Given the description of an element on the screen output the (x, y) to click on. 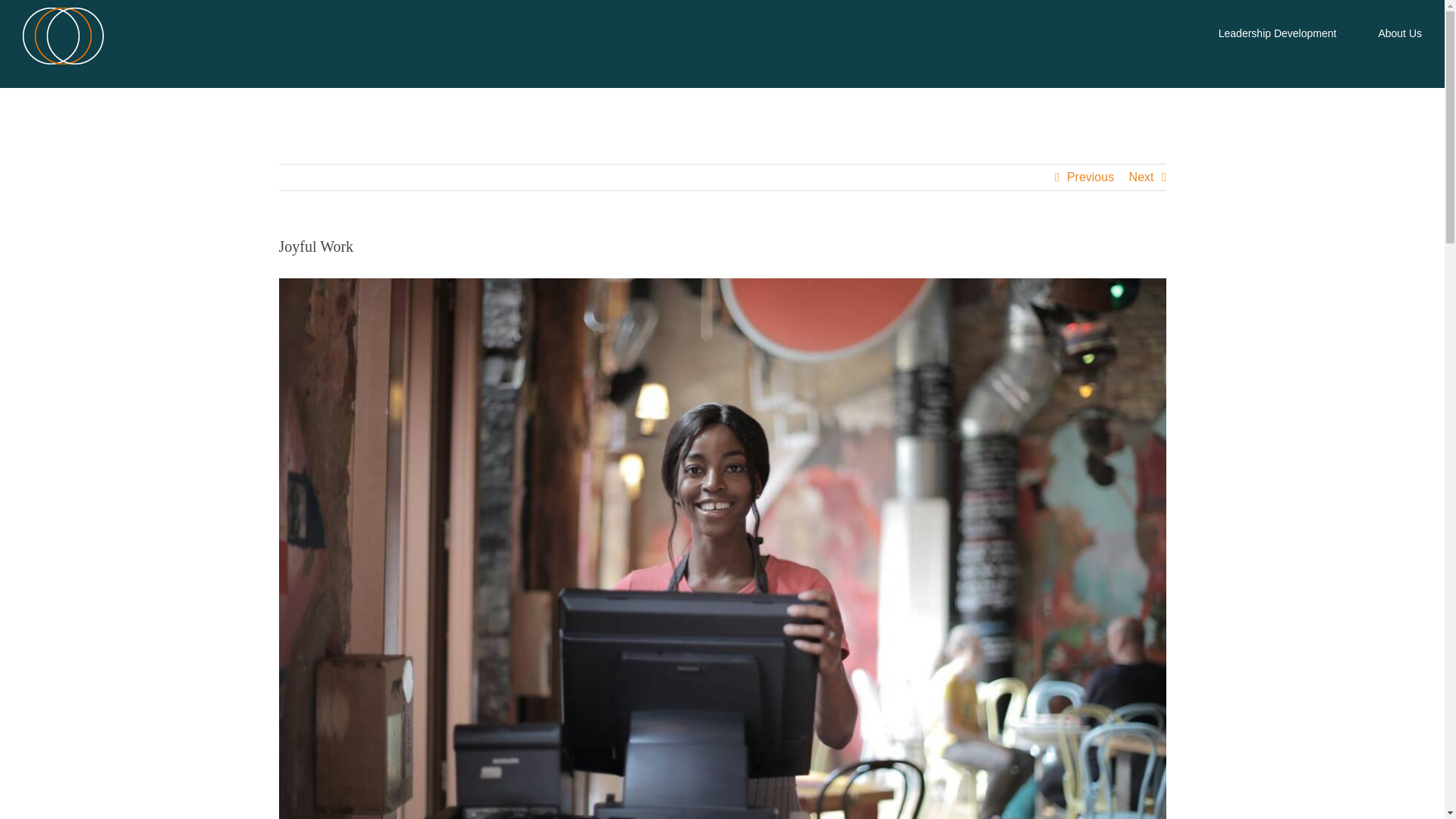
Previous (1090, 177)
Next (1141, 177)
Leadership Development (1277, 31)
